Given the description of an element on the screen output the (x, y) to click on. 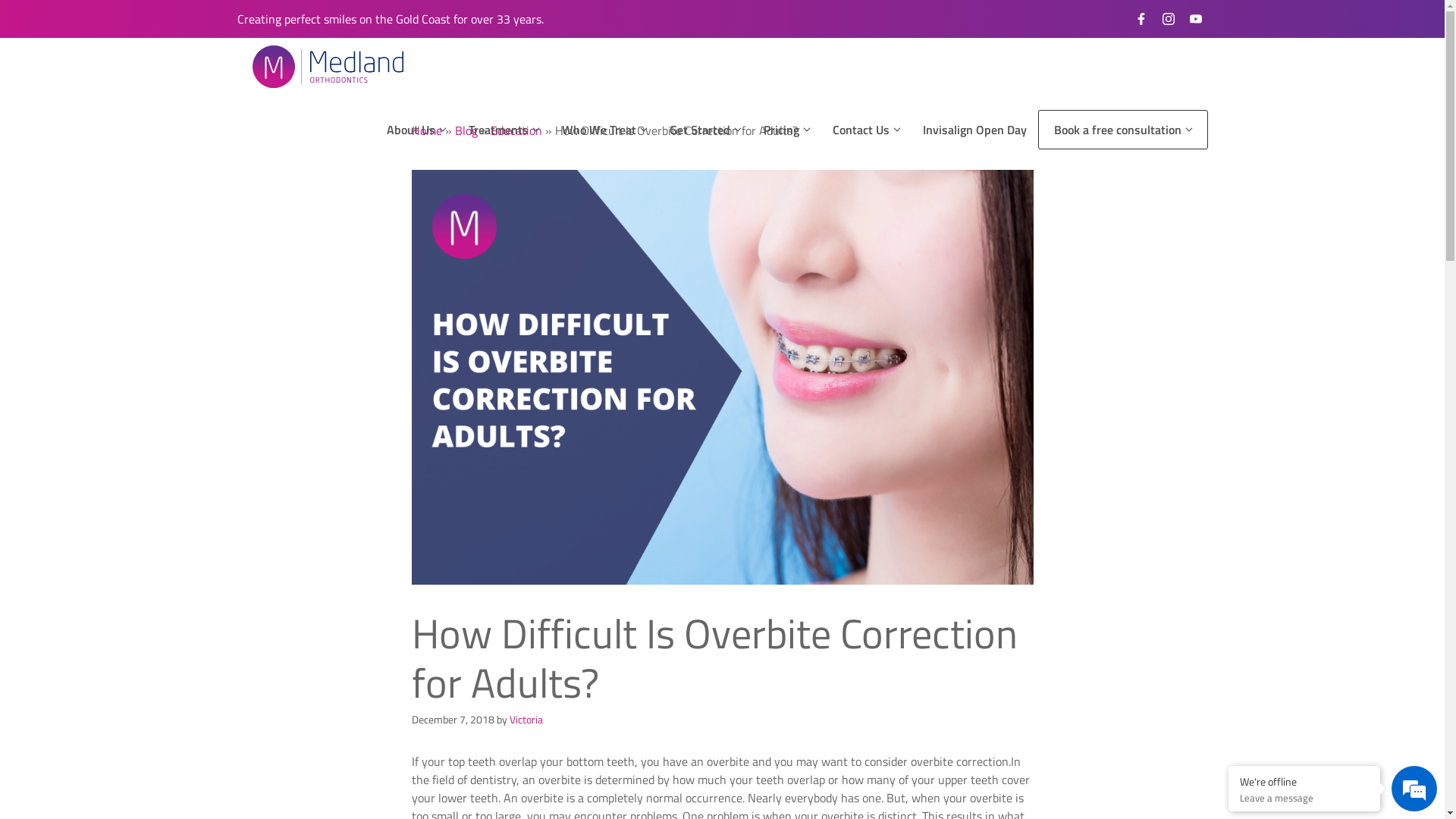
Contact Us Element type: text (870, 129)
Invisalign Open Day Element type: text (975, 129)
Home Element type: text (426, 130)
Victoria Element type: text (525, 719)
Book a free consultation Element type: text (1122, 129)
Medland Orthodontics Element type: hover (327, 66)
Get Started Element type: text (708, 129)
Pricing Element type: text (789, 129)
Blog Element type: text (466, 130)
Who We Treat Element type: text (607, 129)
About Us Element type: text (420, 129)
Treatments Element type: text (507, 129)
Education Element type: text (515, 130)
